Given the description of an element on the screen output the (x, y) to click on. 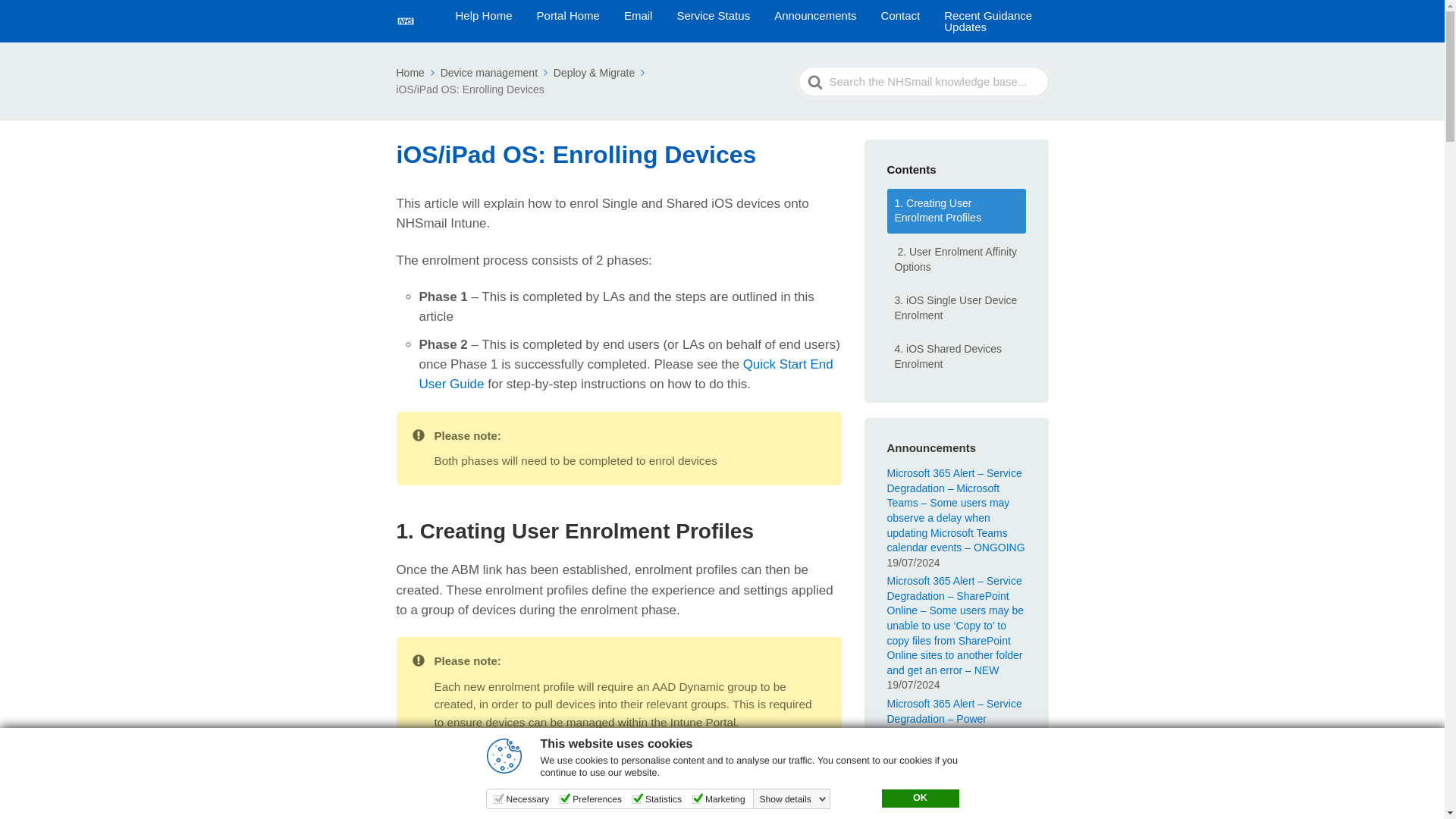
OK (919, 798)
Show details (793, 799)
